Given the description of an element on the screen output the (x, y) to click on. 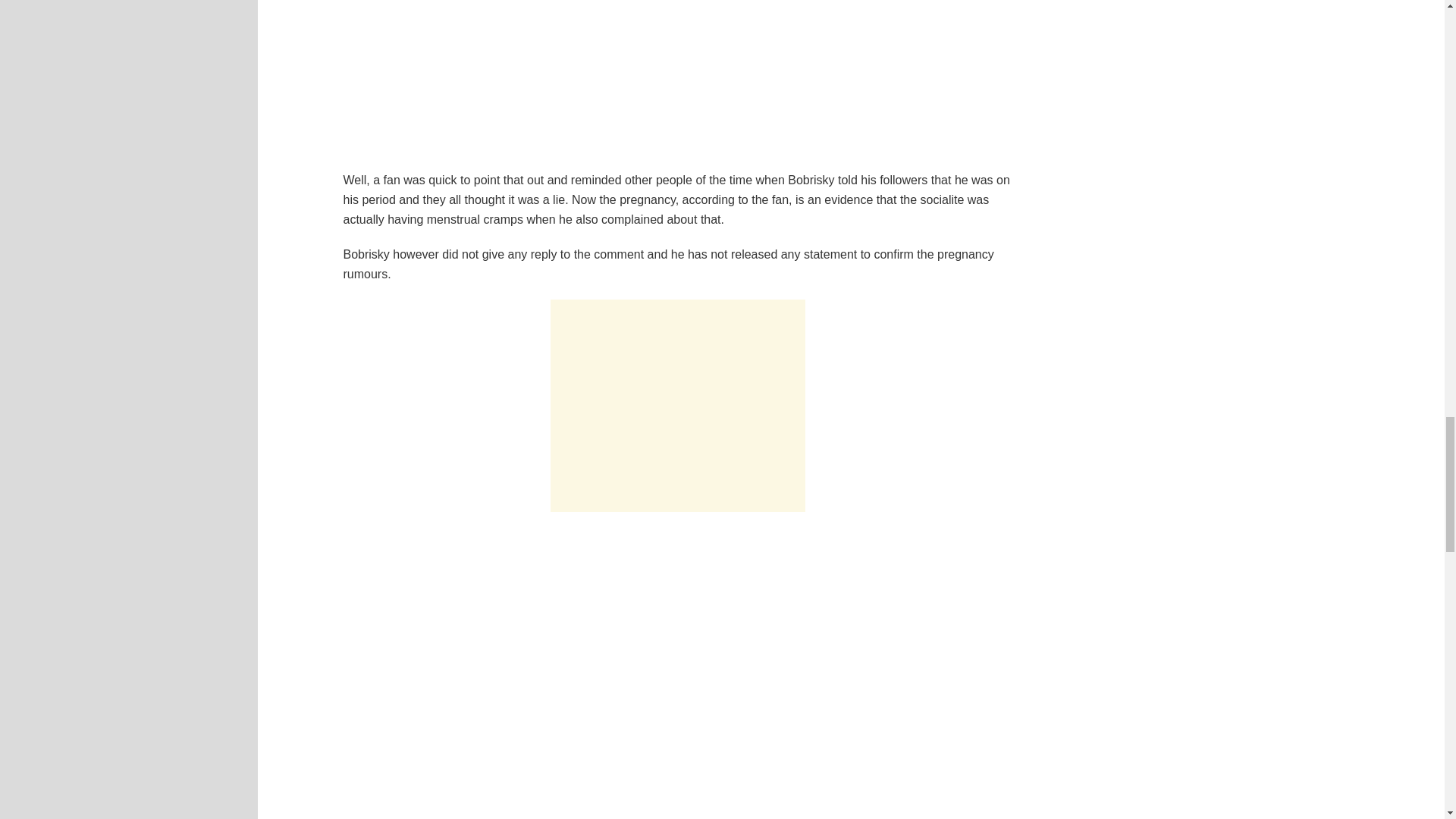
Advertisement (677, 405)
